Given the description of an element on the screen output the (x, y) to click on. 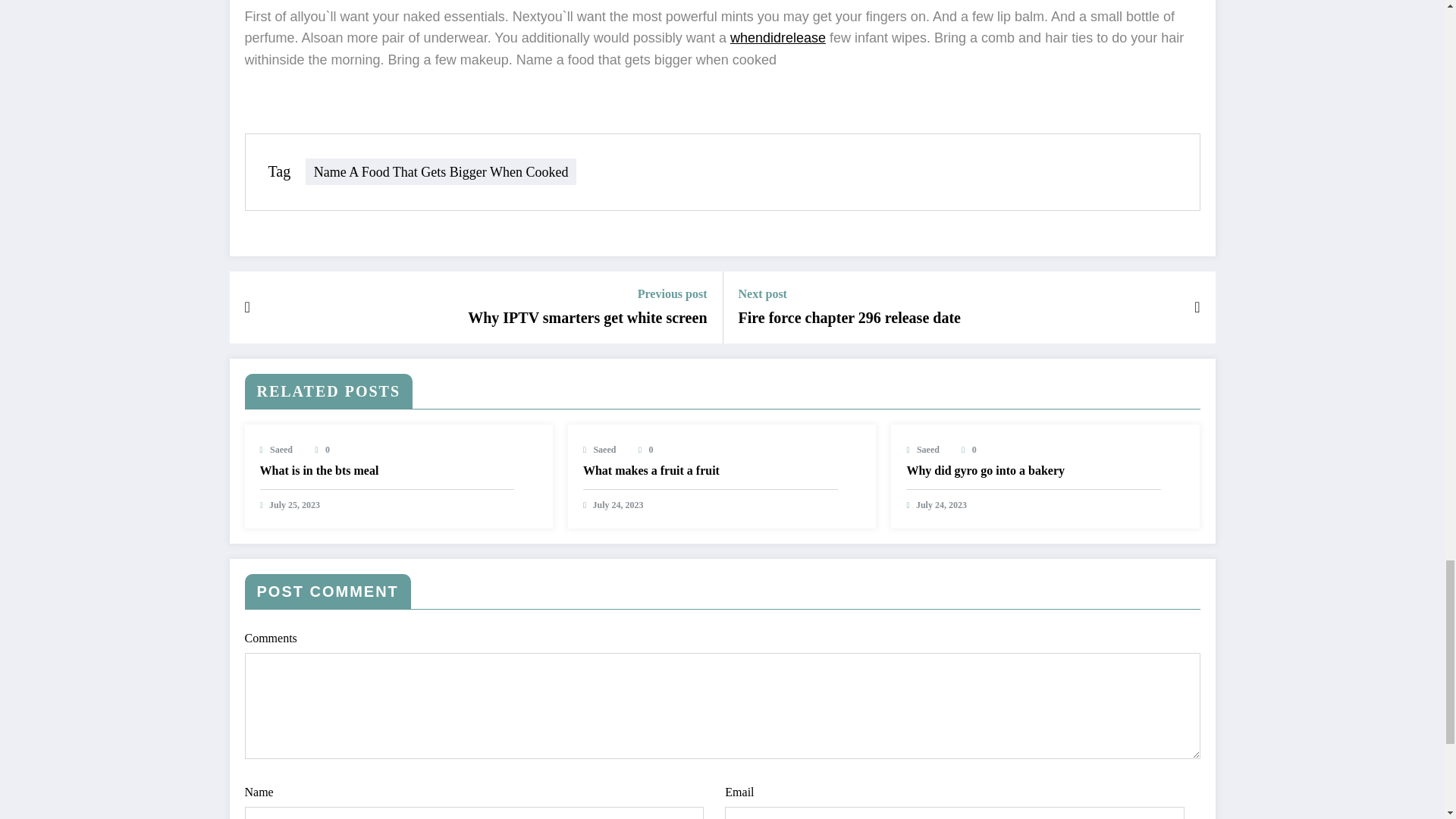
Next post (849, 293)
Saeed (280, 449)
Previous post (586, 293)
Fire force chapter 296 release date (849, 317)
whendidrelease (777, 37)
Why IPTV smarters get white screen (586, 317)
Name A Food That Gets Bigger When Cooked (440, 171)
